Given the description of an element on the screen output the (x, y) to click on. 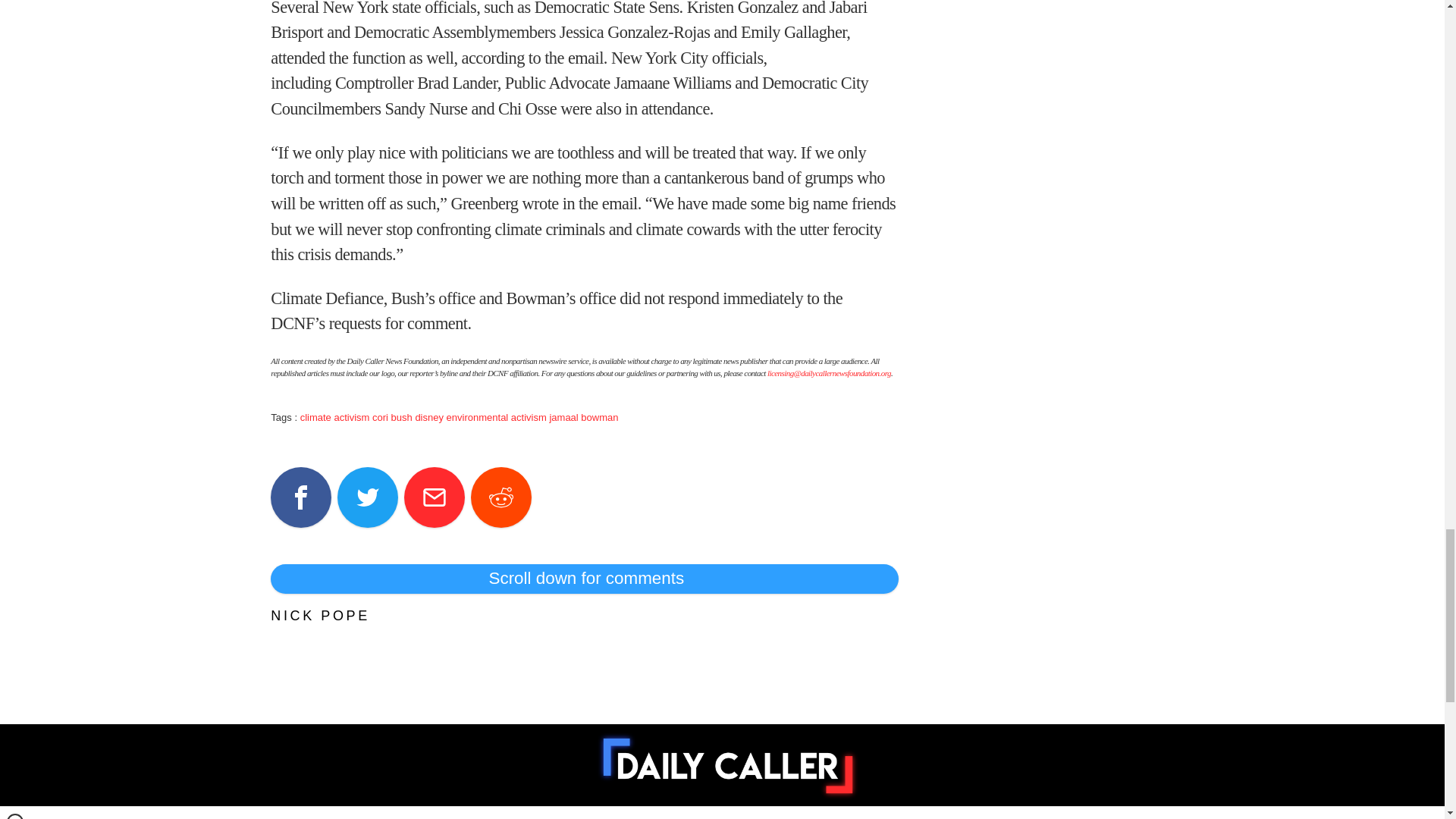
To home page (727, 765)
Scroll down for comments (584, 578)
